Given the description of an element on the screen output the (x, y) to click on. 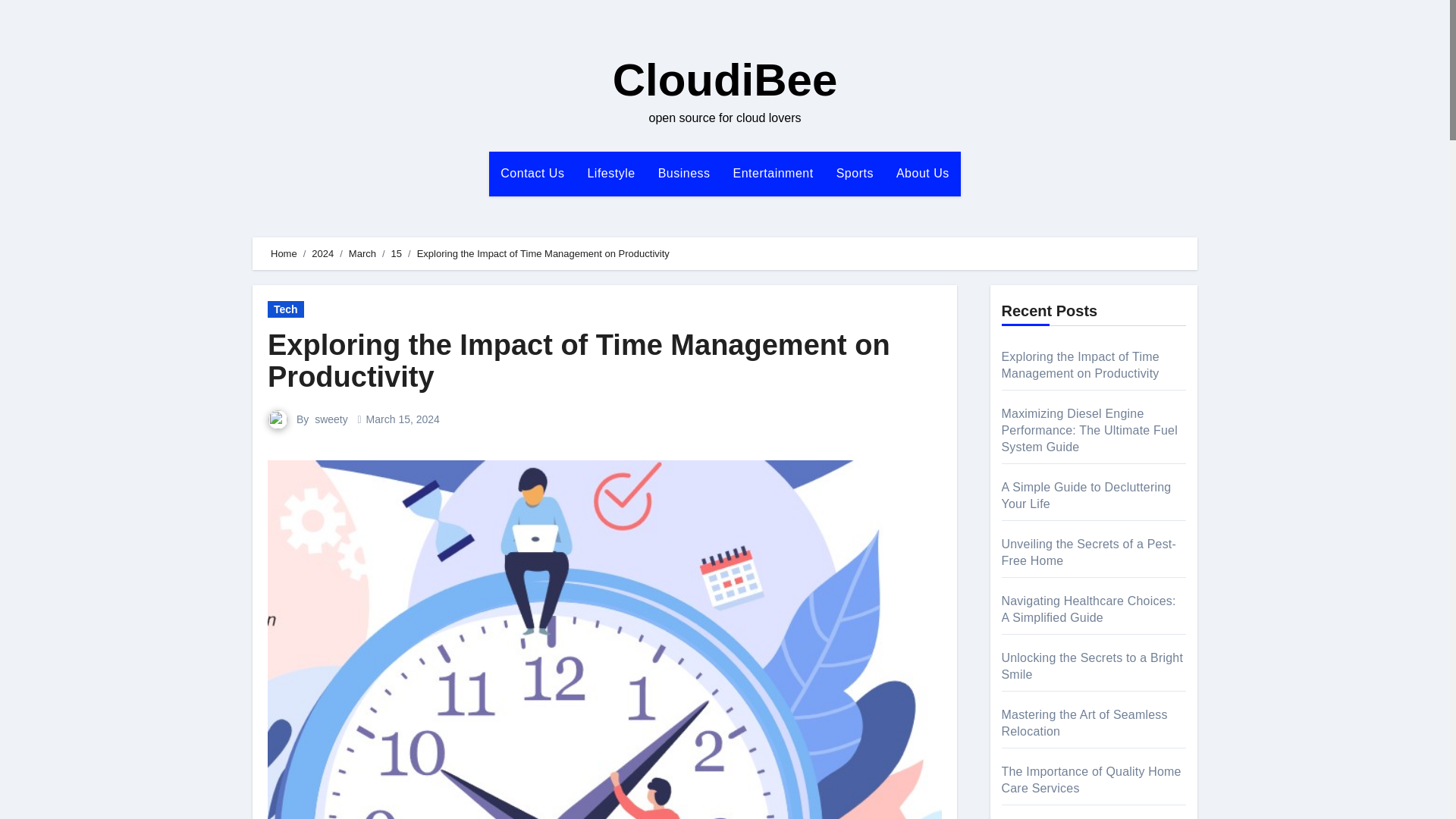
sweety (332, 419)
Contact Us (532, 173)
Business (684, 173)
March (362, 253)
Business (684, 173)
Contact Us (532, 173)
15 (396, 253)
Home (283, 253)
About Us (922, 173)
Entertainment (773, 173)
